Given the description of an element on the screen output the (x, y) to click on. 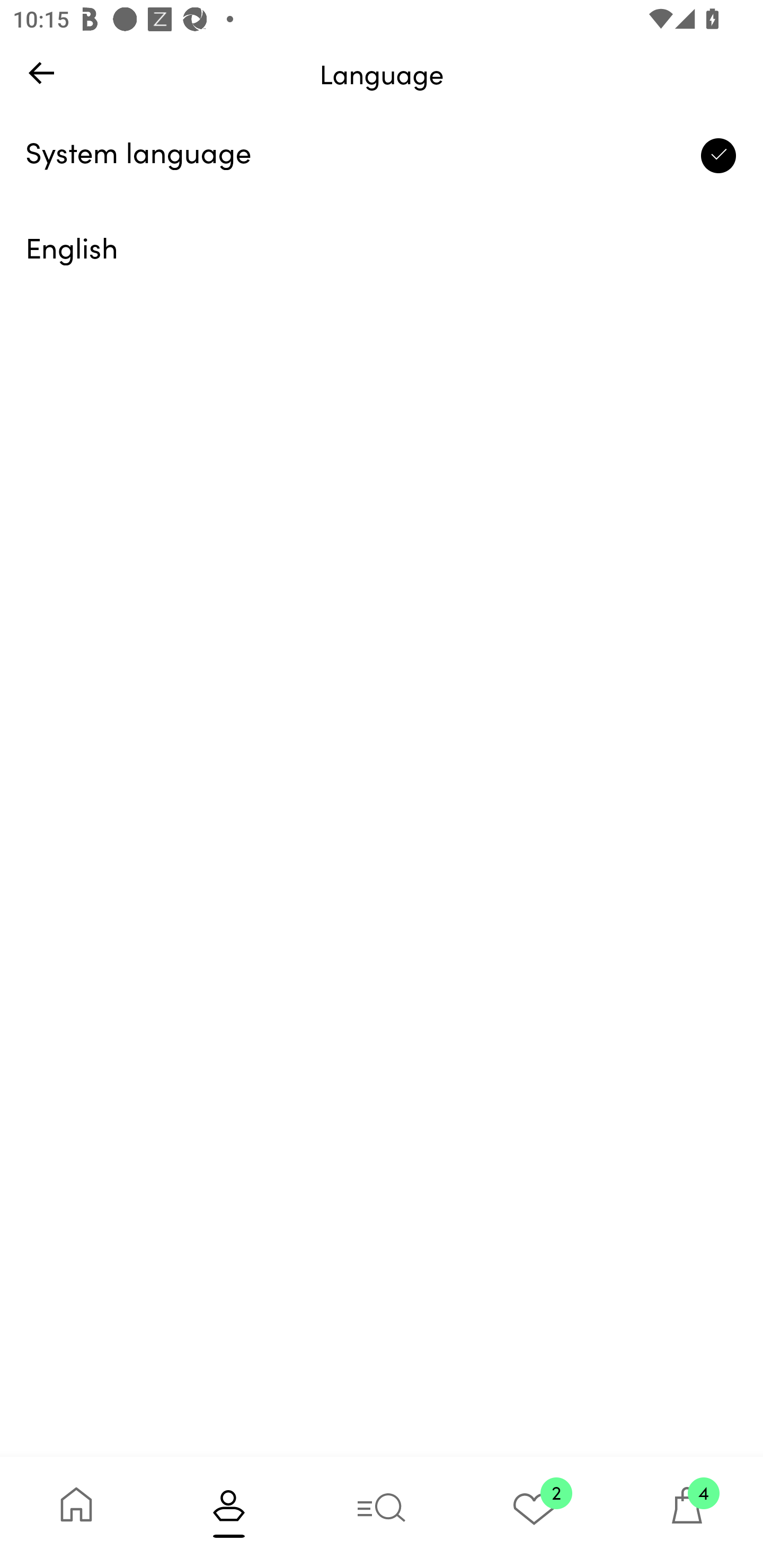
System language  (381, 155)
English (381, 251)
2 (533, 1512)
4 (686, 1512)
